Given the description of an element on the screen output the (x, y) to click on. 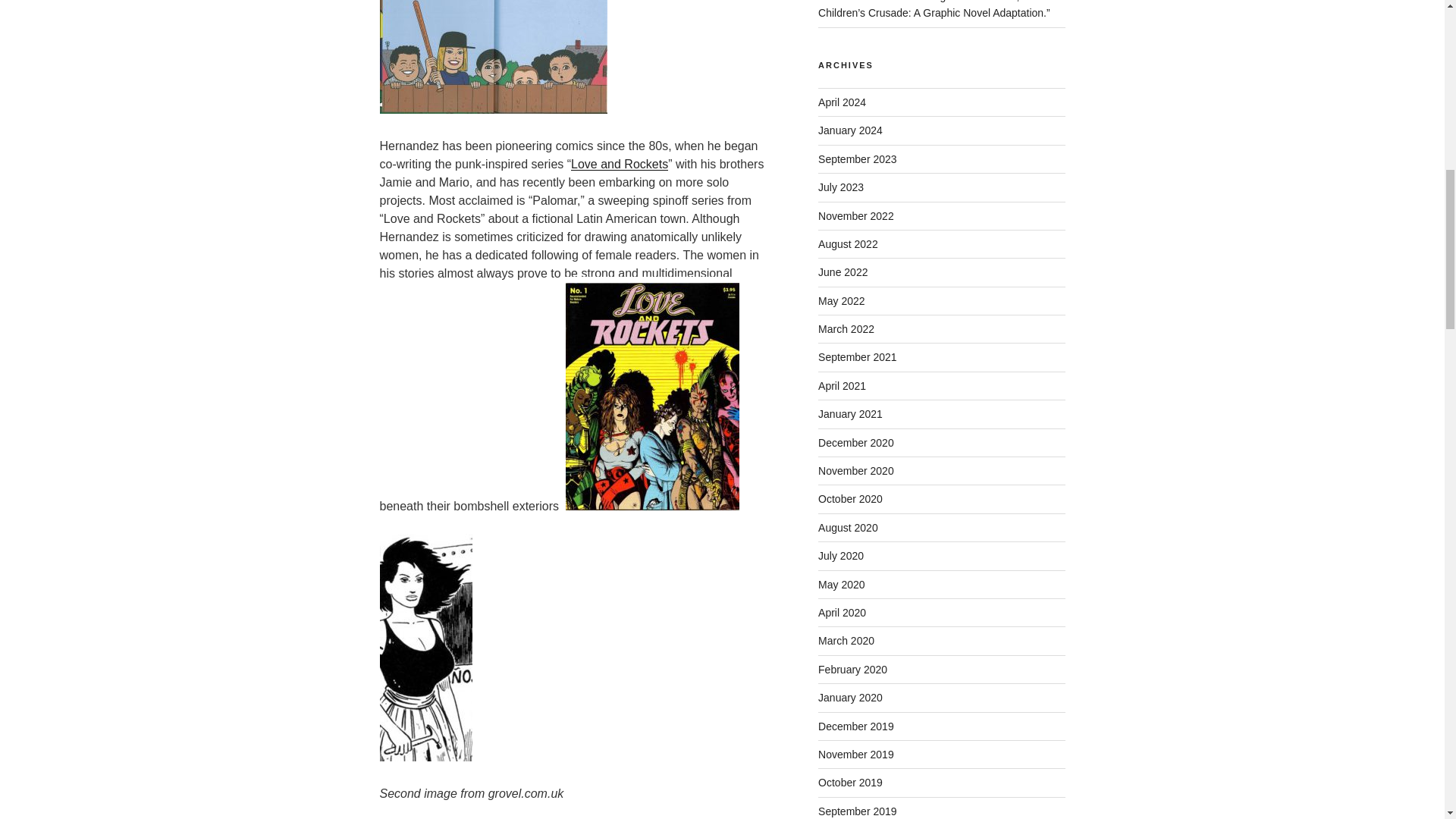
Love and Rockets (619, 164)
